Given the description of an element on the screen output the (x, y) to click on. 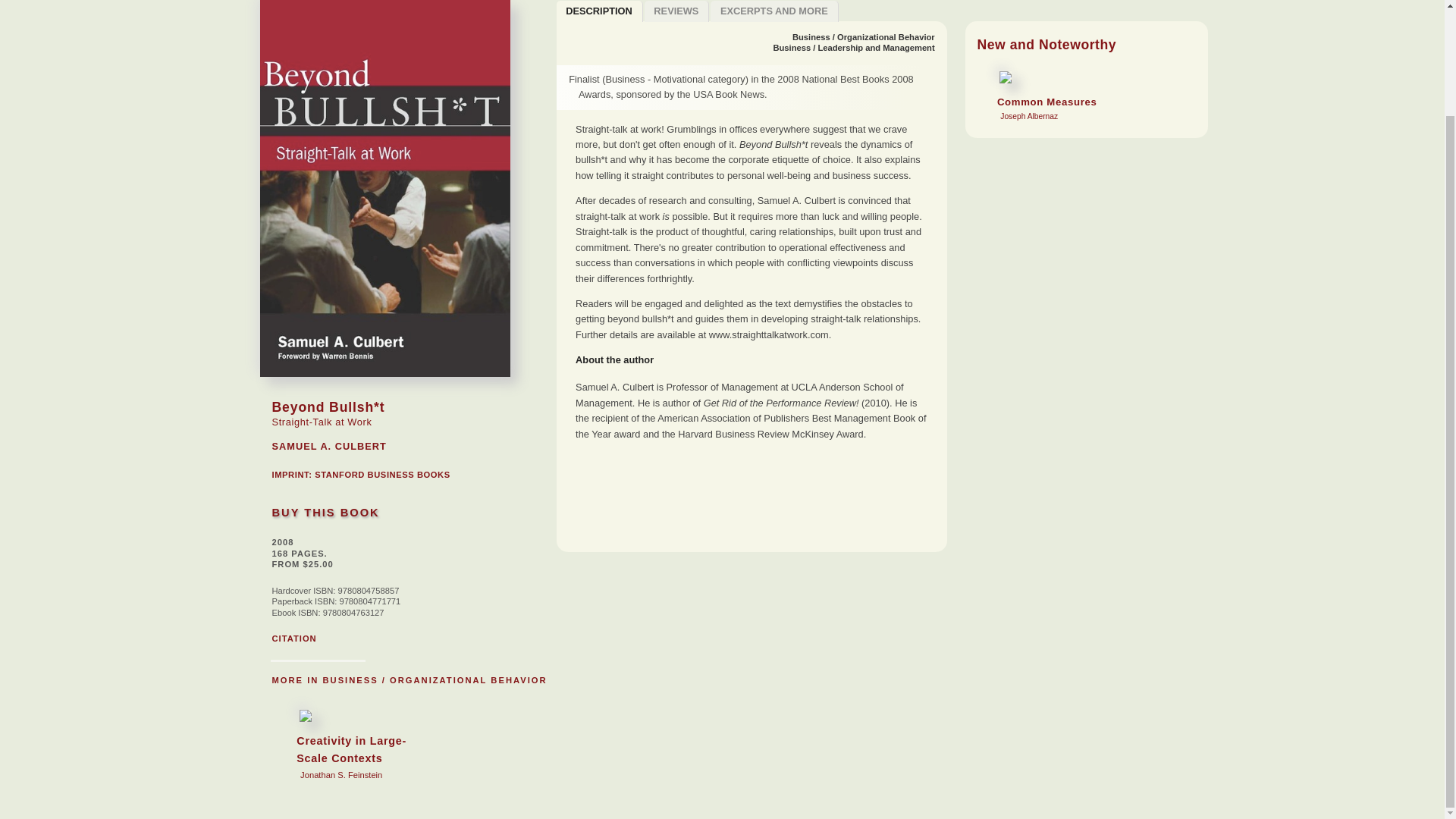
REVIEWS (774, 11)
DESCRIPTION (677, 11)
STANFORD BUSINESS BOOKS (599, 11)
CITATION (381, 474)
BUY THIS BOOK (292, 637)
